Given the description of an element on the screen output the (x, y) to click on. 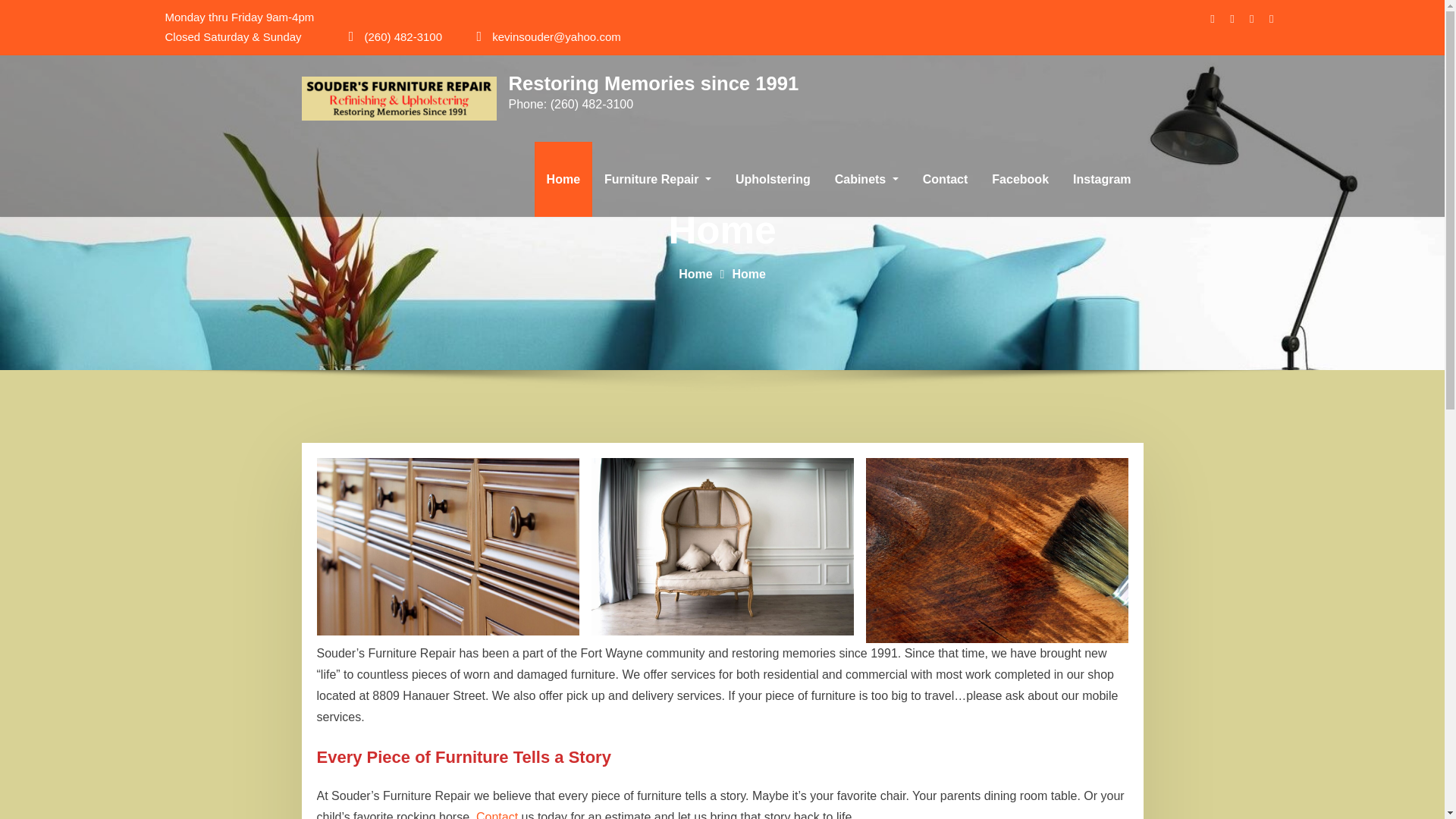
Home (694, 273)
Restoring Memories since 1991 (652, 83)
Upholstering (772, 179)
Contact (945, 179)
Cabinets (866, 179)
Facebook (1020, 179)
Instagram (1101, 179)
Contact (497, 814)
Furniture Repair (657, 179)
